Given the description of an element on the screen output the (x, y) to click on. 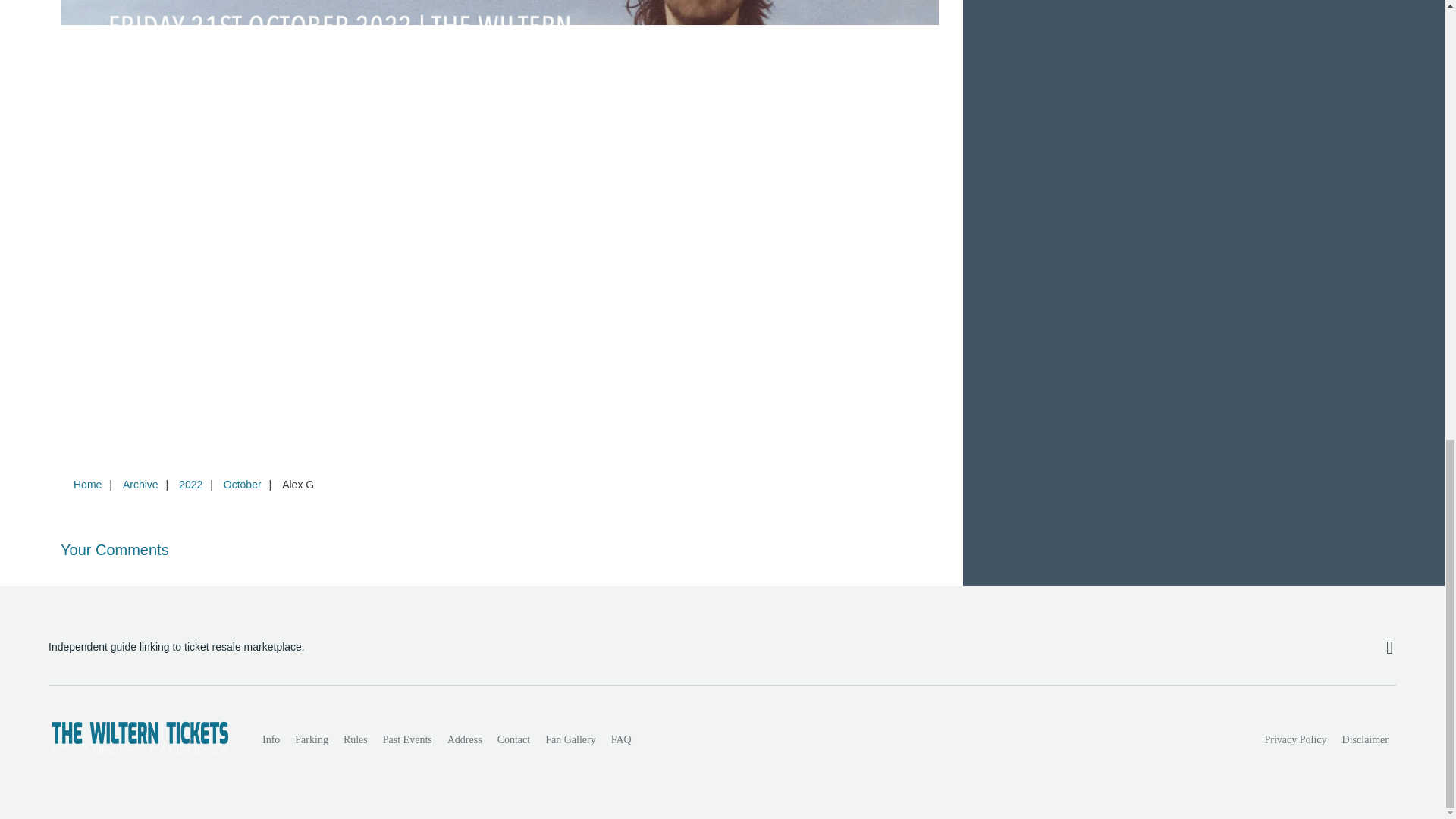
Contact (513, 739)
2022 (190, 484)
Parking (311, 739)
Archive (140, 484)
Privacy Policy (1296, 739)
Rules (355, 739)
Fan Gallery (569, 739)
Disclaimer (1365, 739)
Home (87, 484)
